Given the description of an element on the screen output the (x, y) to click on. 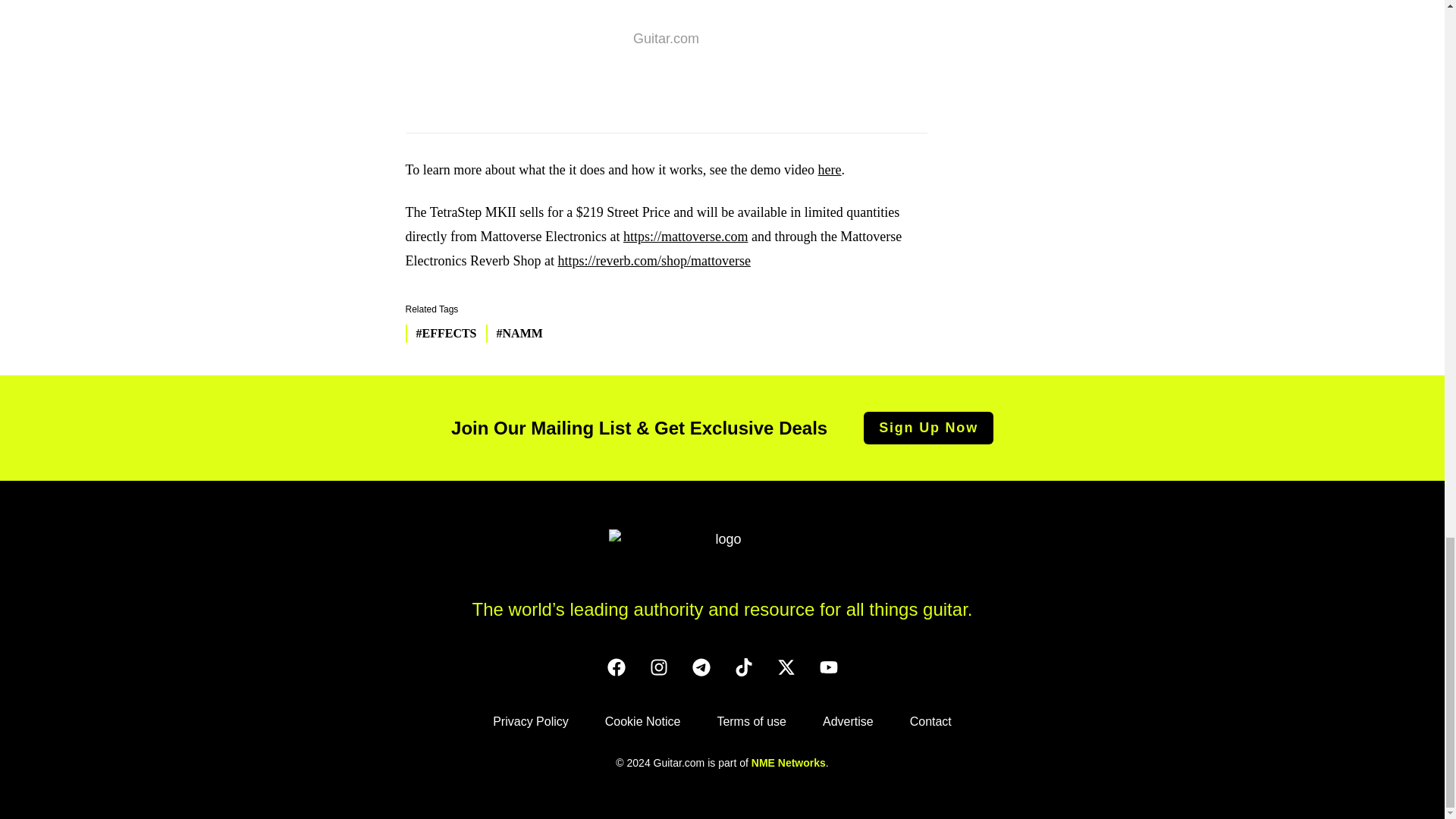
Sign Up Now (927, 427)
Effects (440, 333)
NAMM (514, 333)
here (829, 169)
